Given the description of an element on the screen output the (x, y) to click on. 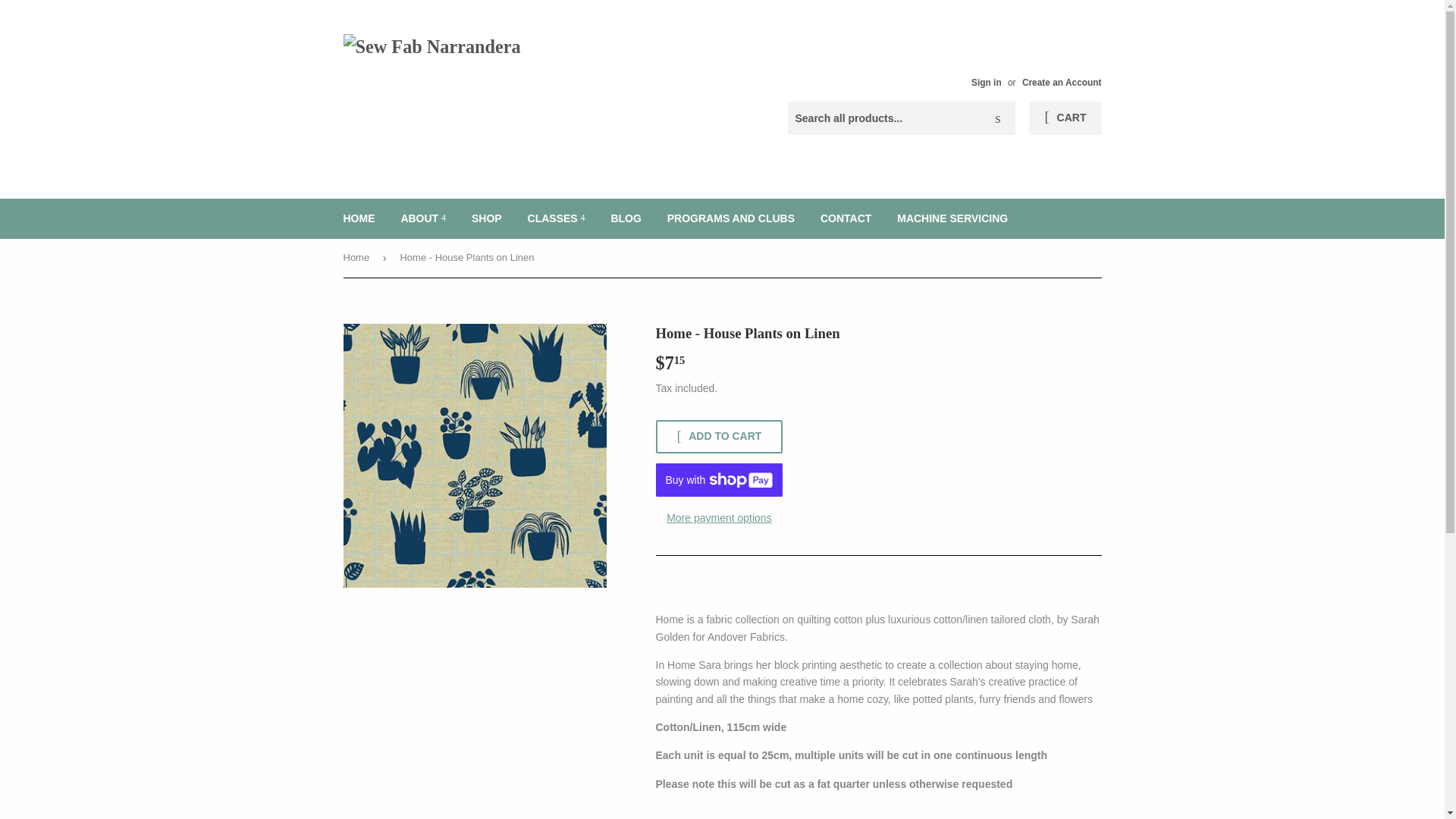
CART (1064, 118)
CLASSES (556, 218)
ABOUT (422, 218)
HOME (359, 218)
BLOG (625, 218)
ADD TO CART (719, 436)
More payment options (719, 517)
MACHINE SERVICING (952, 218)
Create an Account (1062, 81)
SHOP (486, 218)
PROGRAMS AND CLUBS (731, 218)
Search (997, 119)
CONTACT (845, 218)
Sign in (986, 81)
